Given the description of an element on the screen output the (x, y) to click on. 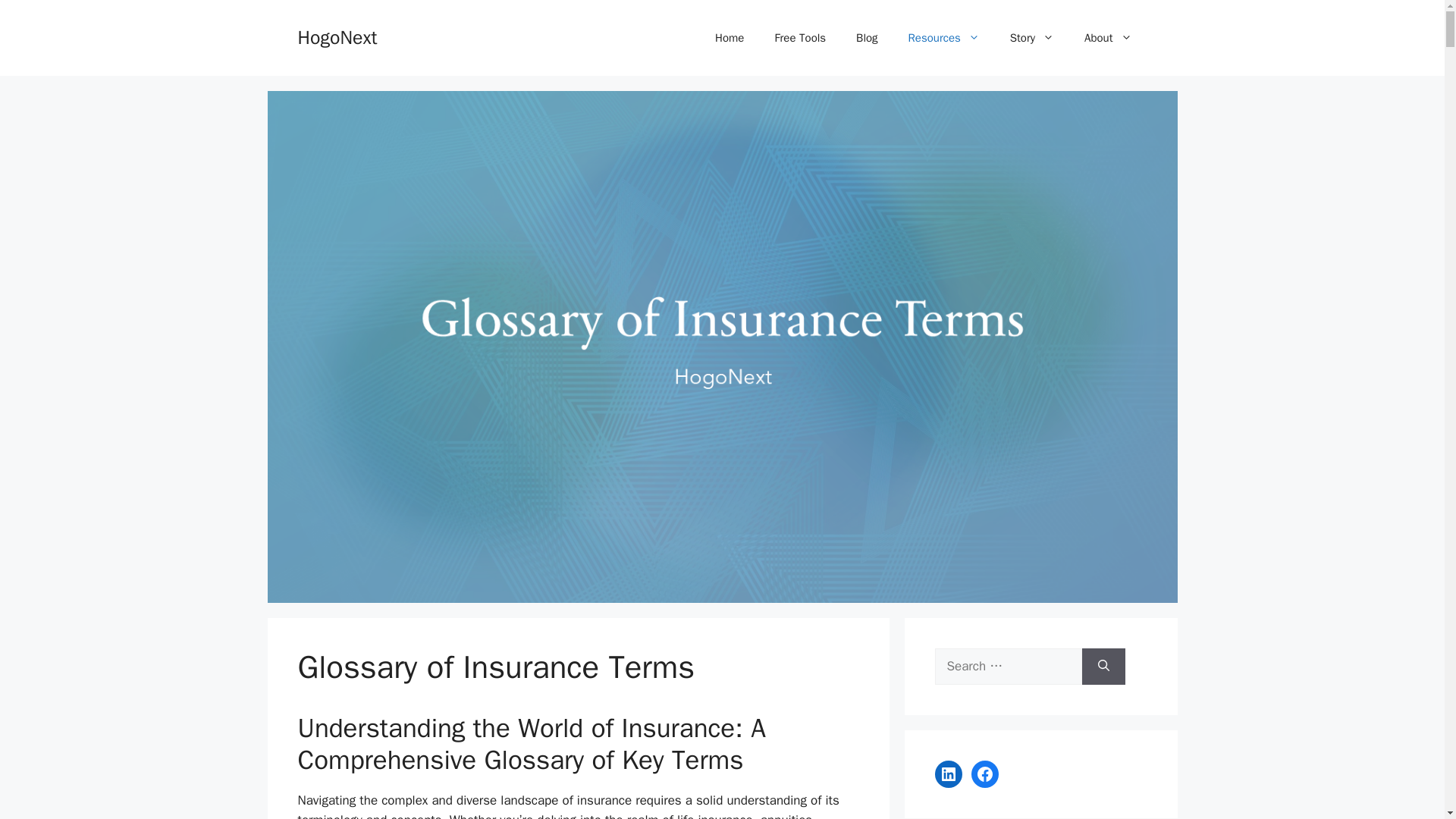
LinkedIn (947, 773)
Search for: (1007, 666)
Free Tools (799, 37)
Resources (943, 37)
Home (729, 37)
HogoNext (337, 37)
Blog (866, 37)
Story (1031, 37)
Facebook (984, 773)
About (1107, 37)
